Given the description of an element on the screen output the (x, y) to click on. 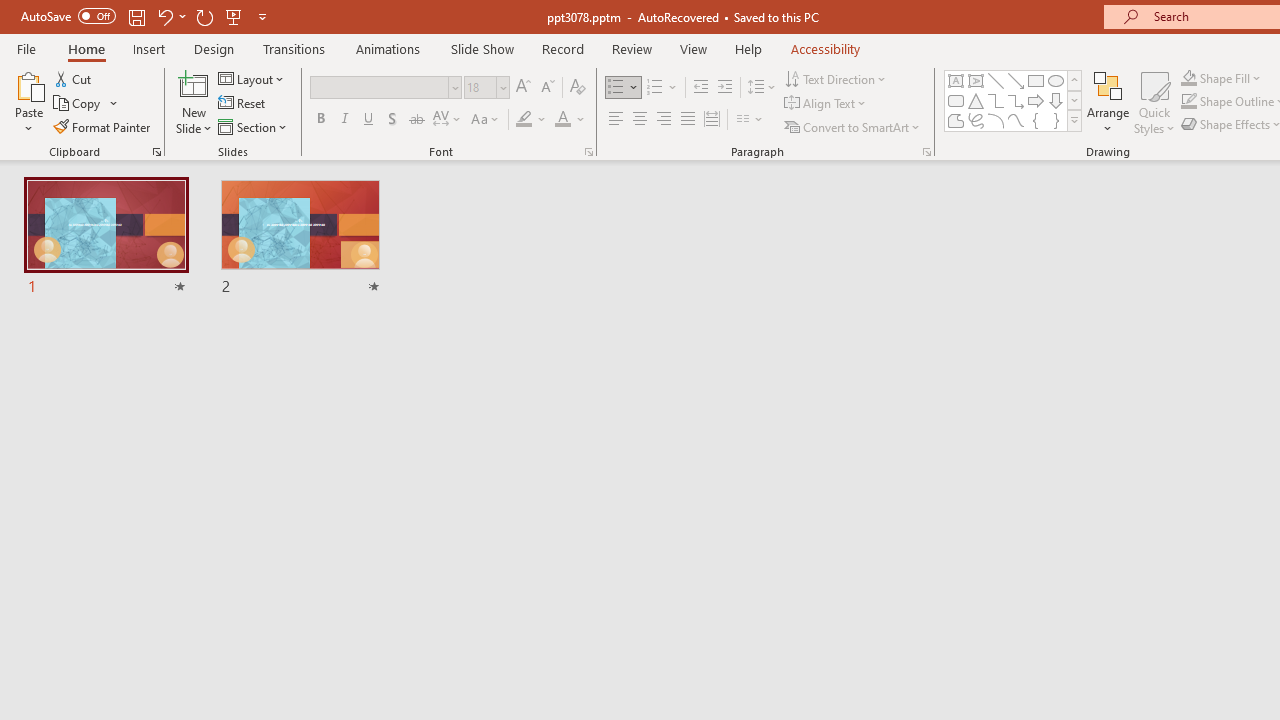
Shape Fill Dark Green, Accent 2 (1188, 78)
